Given the description of an element on the screen output the (x, y) to click on. 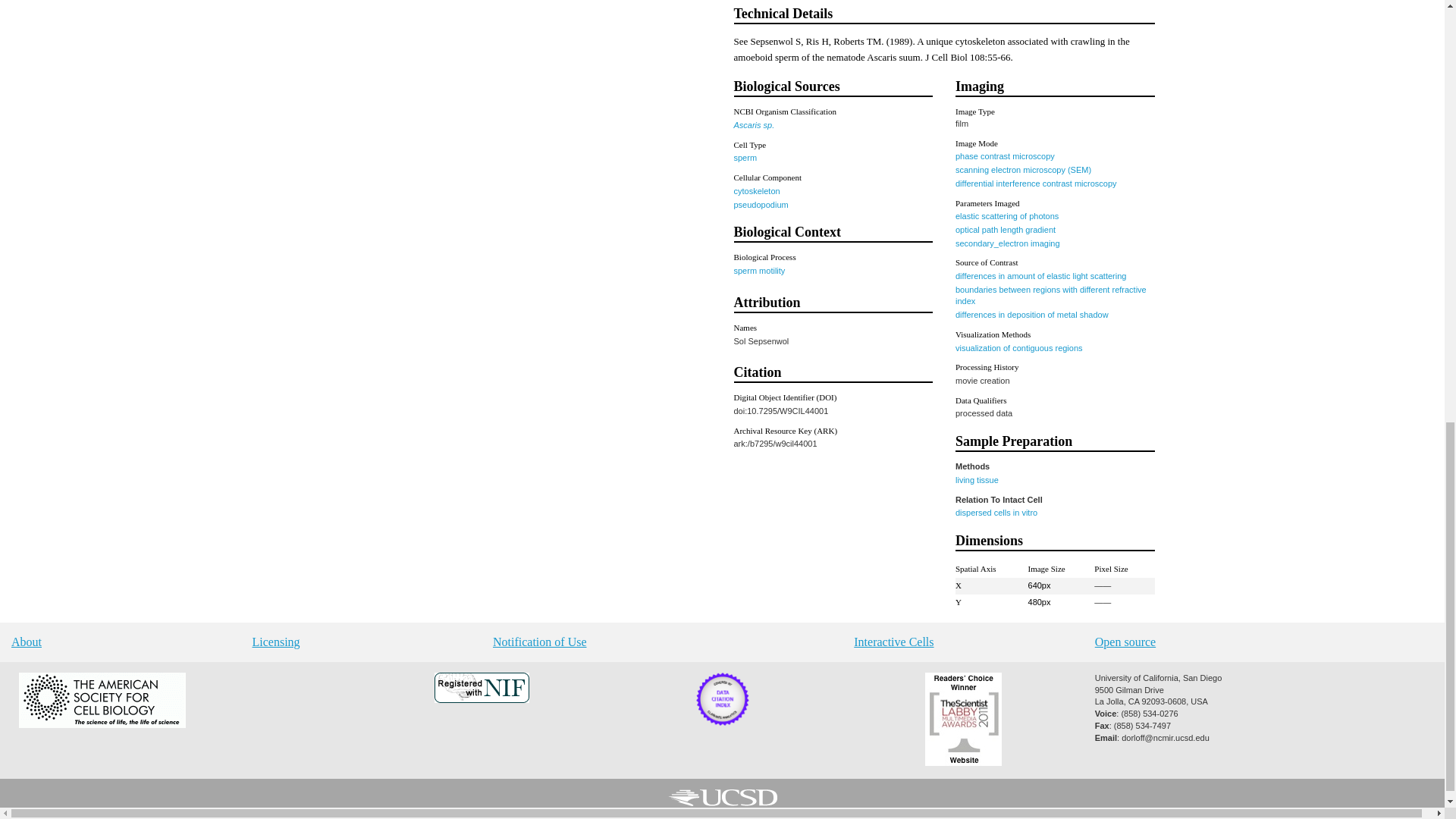
elastic scattering of photons (1006, 215)
optical path length gradient (1005, 229)
Registered with NIF (480, 699)
sperm (745, 157)
pseudopodium (761, 203)
phase contrast microscopy (1004, 155)
cytoskeleton (756, 190)
Ascaris sp. (753, 124)
Data Citation Index (722, 722)
differences in amount of elastic light scattering (1040, 275)
